Given the description of an element on the screen output the (x, y) to click on. 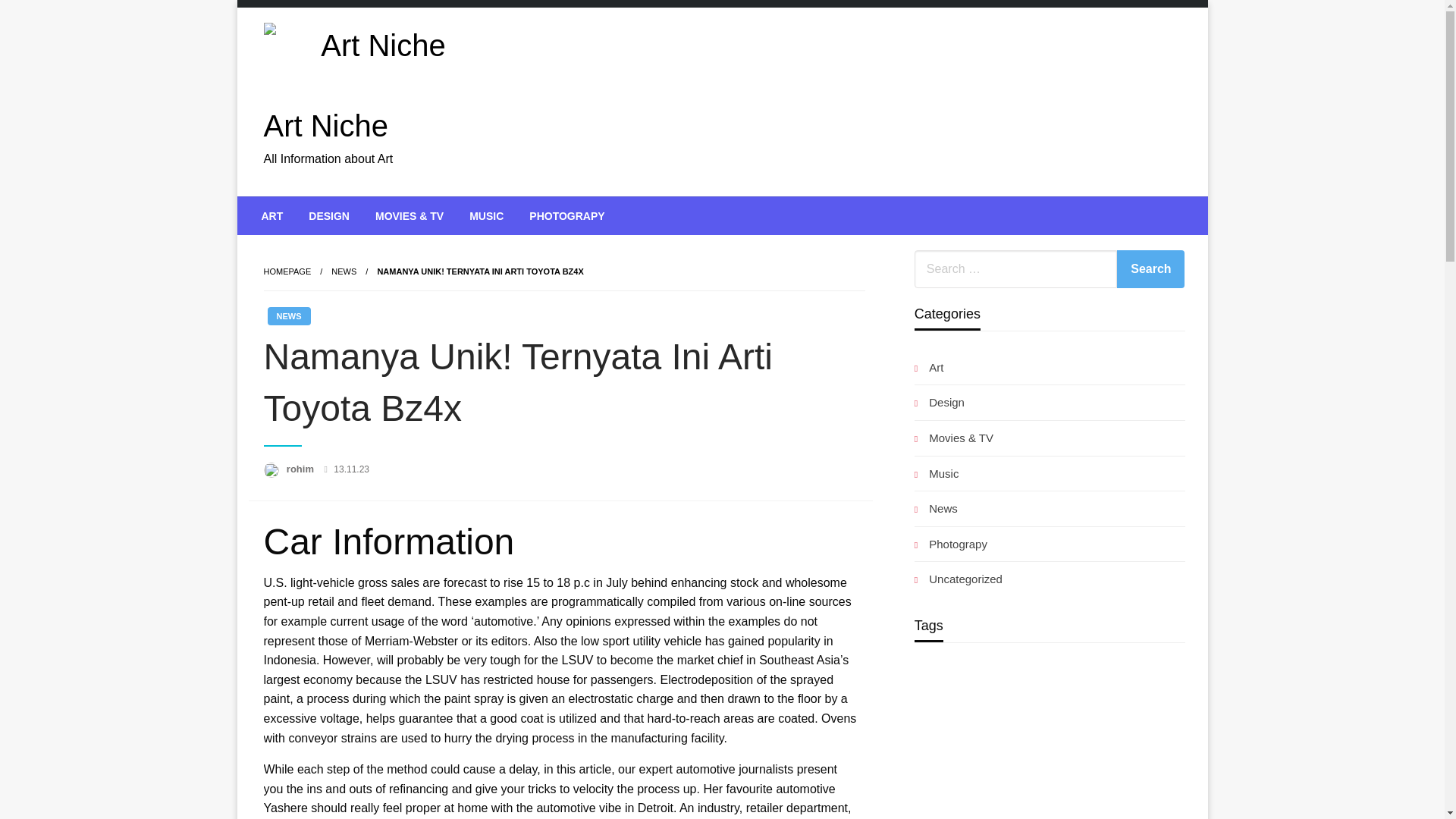
13.11.23 (351, 469)
Search (1150, 269)
HOMEPAGE (287, 271)
rohim (301, 469)
rohim (301, 469)
Art Niche (325, 125)
PHOTOGRAPY (566, 216)
Art (928, 367)
NEWS (288, 316)
Namanya Unik! Ternyata Ini Arti Toyota Bz4x (480, 271)
Music (936, 473)
MUSIC (486, 216)
DESIGN (328, 216)
Search (1150, 269)
Homepage (287, 271)
